Given the description of an element on the screen output the (x, y) to click on. 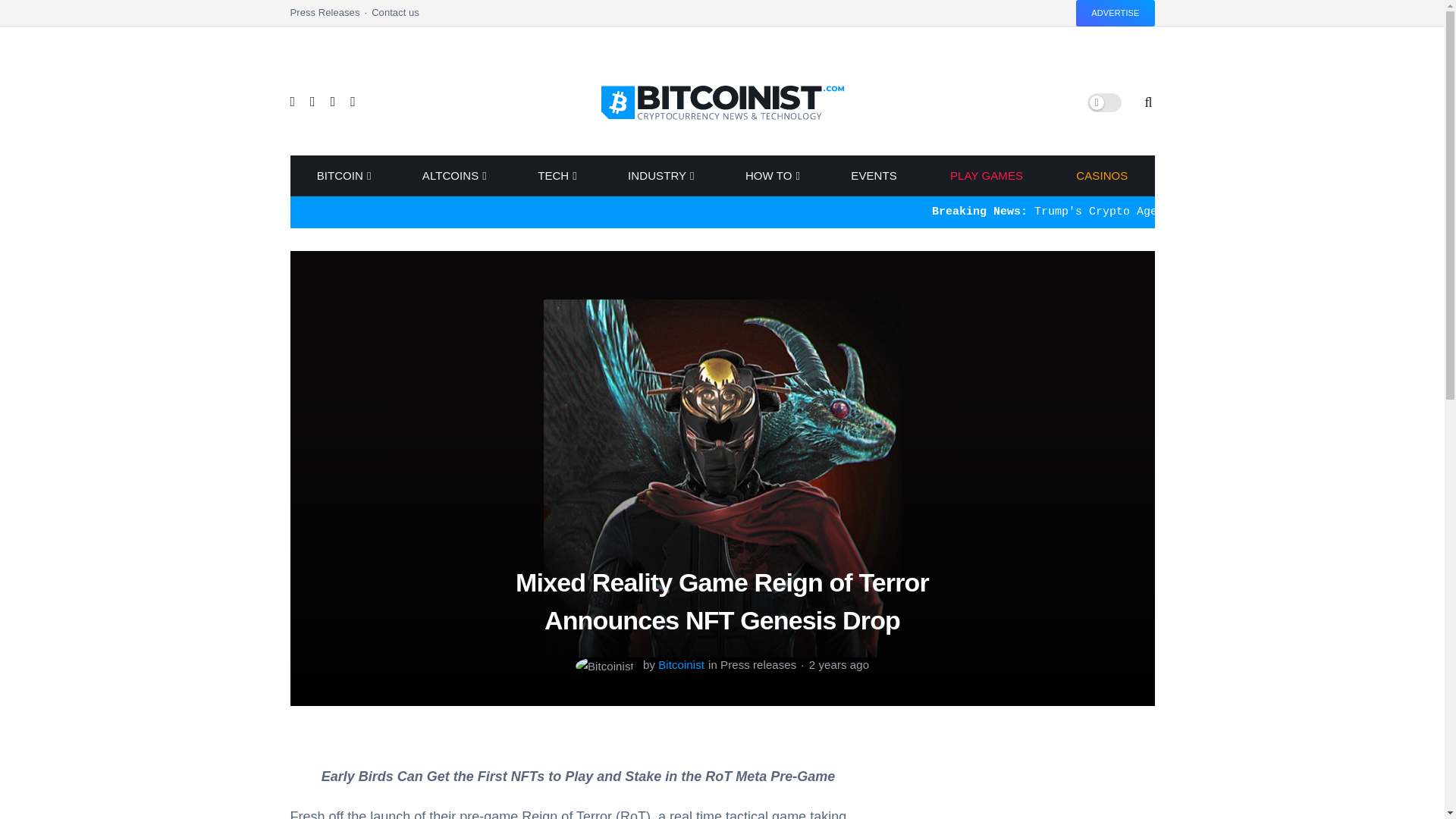
Press Releases (330, 17)
INDUSTRY (660, 175)
TECH (555, 175)
BITCOIN (341, 175)
Contact us (395, 17)
HOW TO (771, 175)
ADVERTISE (1114, 13)
ALTCOINS (453, 175)
